Given the description of an element on the screen output the (x, y) to click on. 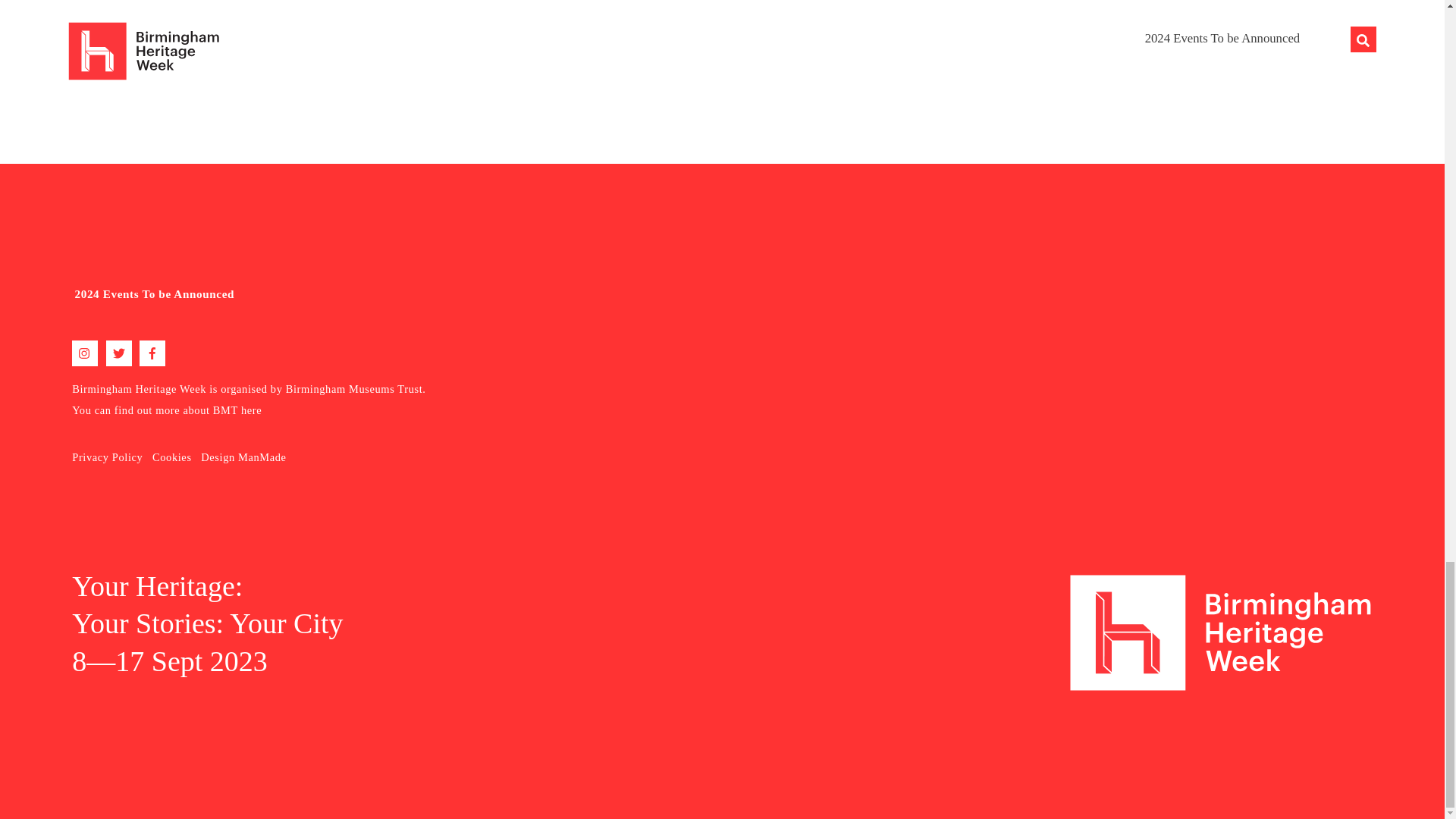
Privacy Policy (106, 457)
Cookies (172, 457)
2024 Events To be Announced (378, 293)
here (251, 410)
logo-white (1220, 632)
2024 Events To be Announced (154, 293)
ManMade (262, 457)
